Given the description of an element on the screen output the (x, y) to click on. 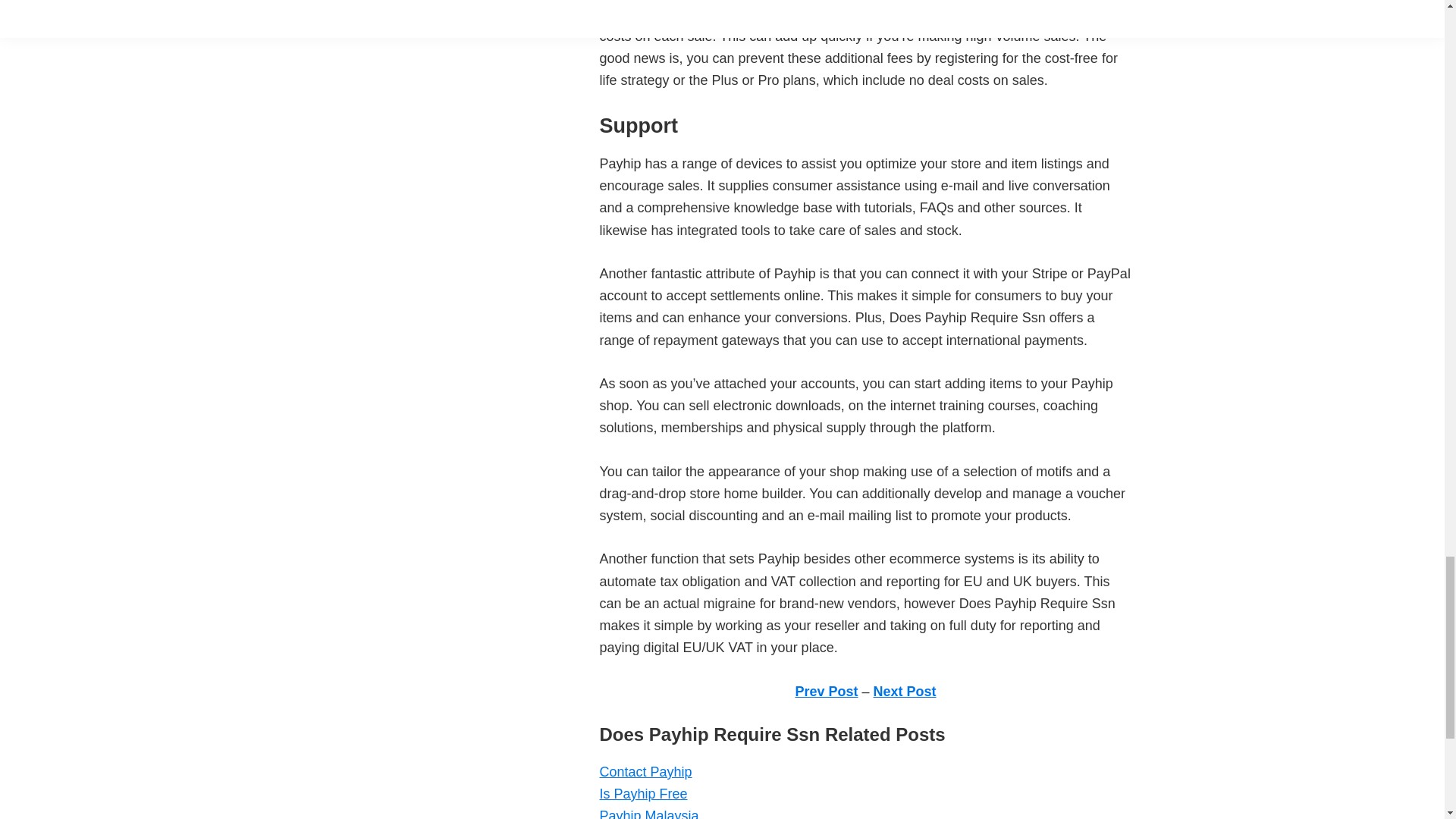
Contact Payhip (644, 771)
Is Payhip Free (642, 793)
Payhip Malaysia (648, 813)
Next Post (904, 691)
Prev Post (825, 691)
Payhip Malaysia (648, 813)
Is Payhip Free (642, 793)
Contact Payhip (644, 771)
